Given the description of an element on the screen output the (x, y) to click on. 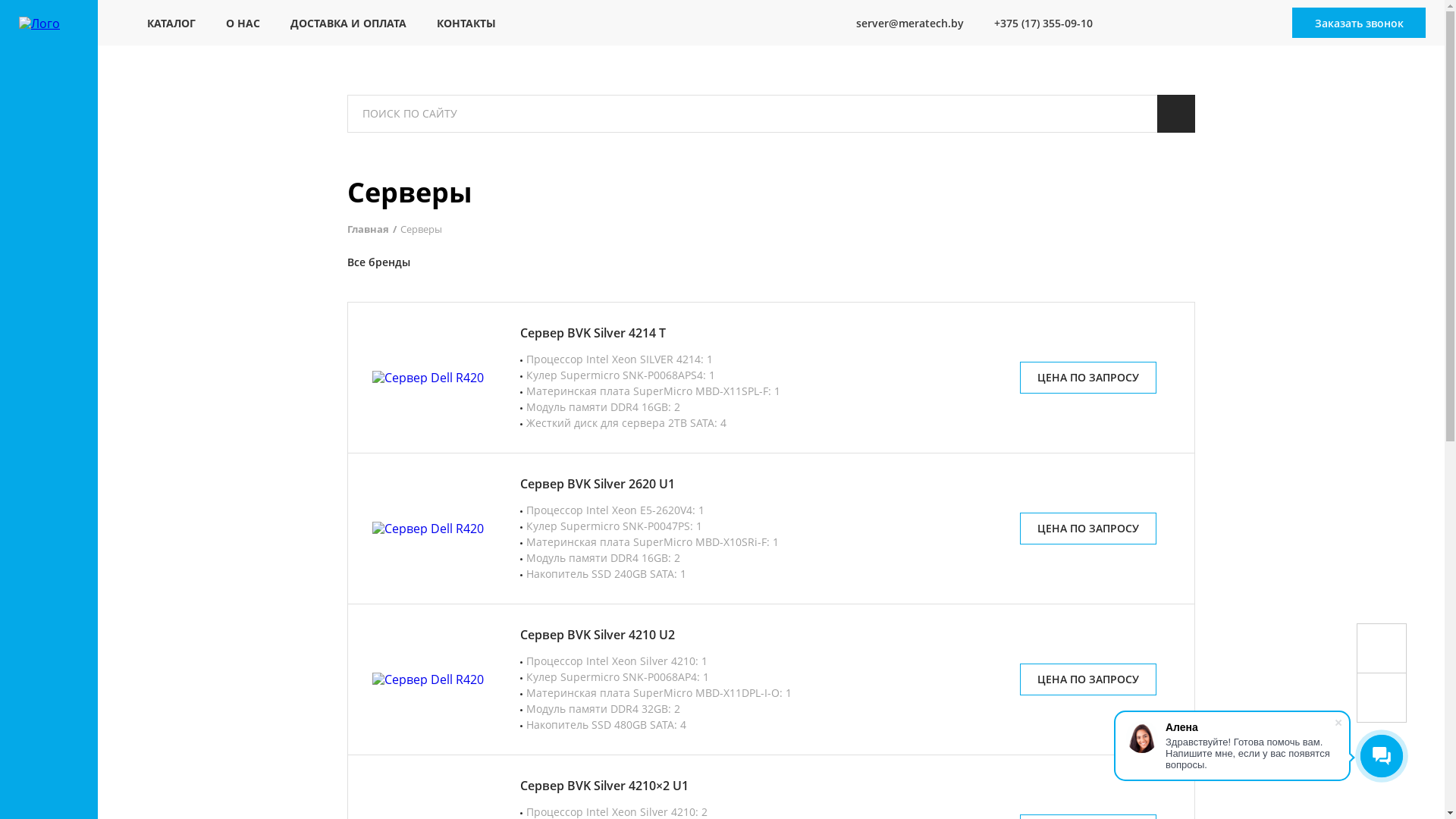
BVK Element type: hover (471, 262)
+375 (17) 355-09-10 Element type: text (1033, 23)
server@meratech.by Element type: text (900, 23)
